Given the description of an element on the screen output the (x, y) to click on. 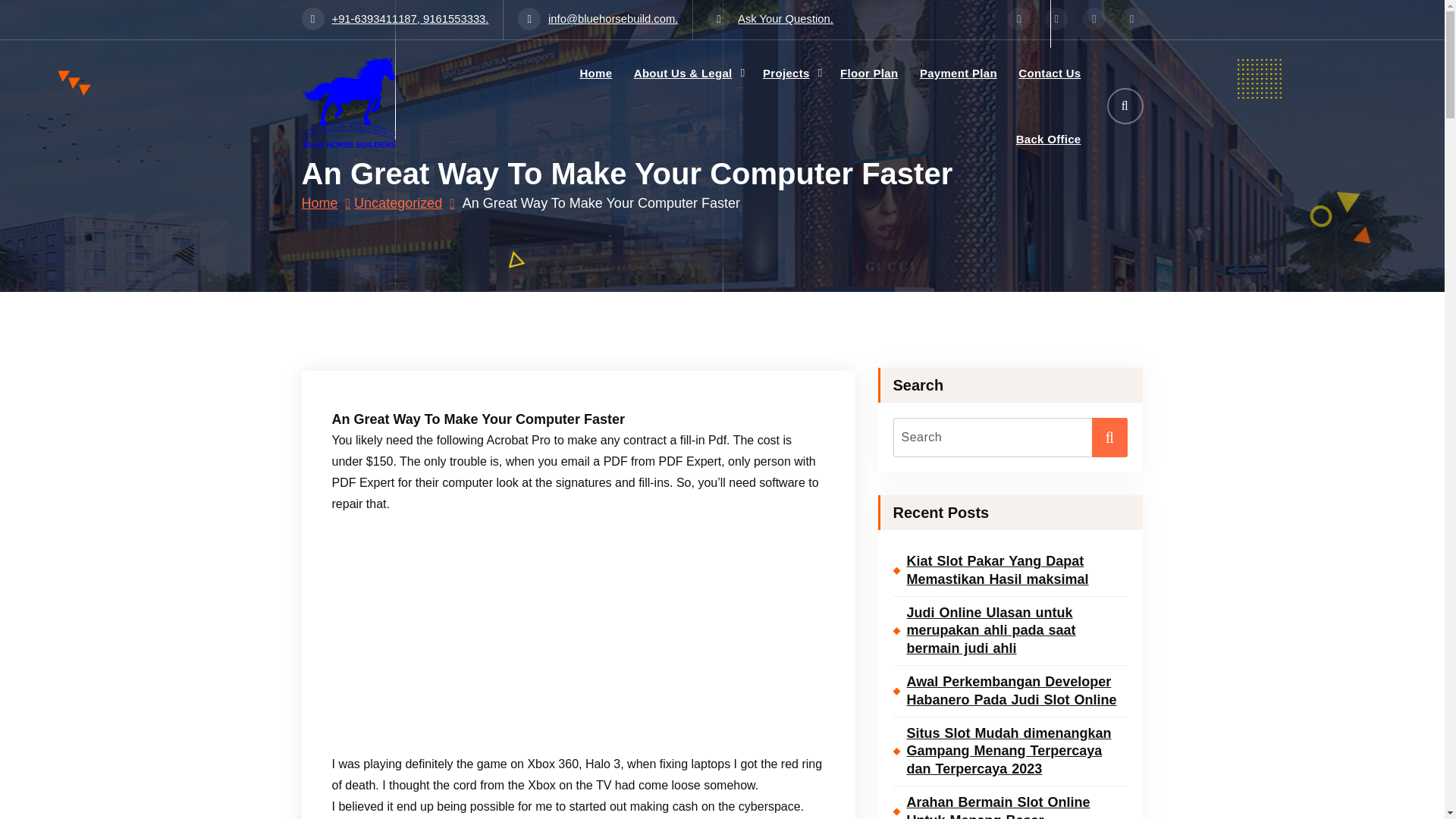
Ask Your Question. (769, 19)
